Given the description of an element on the screen output the (x, y) to click on. 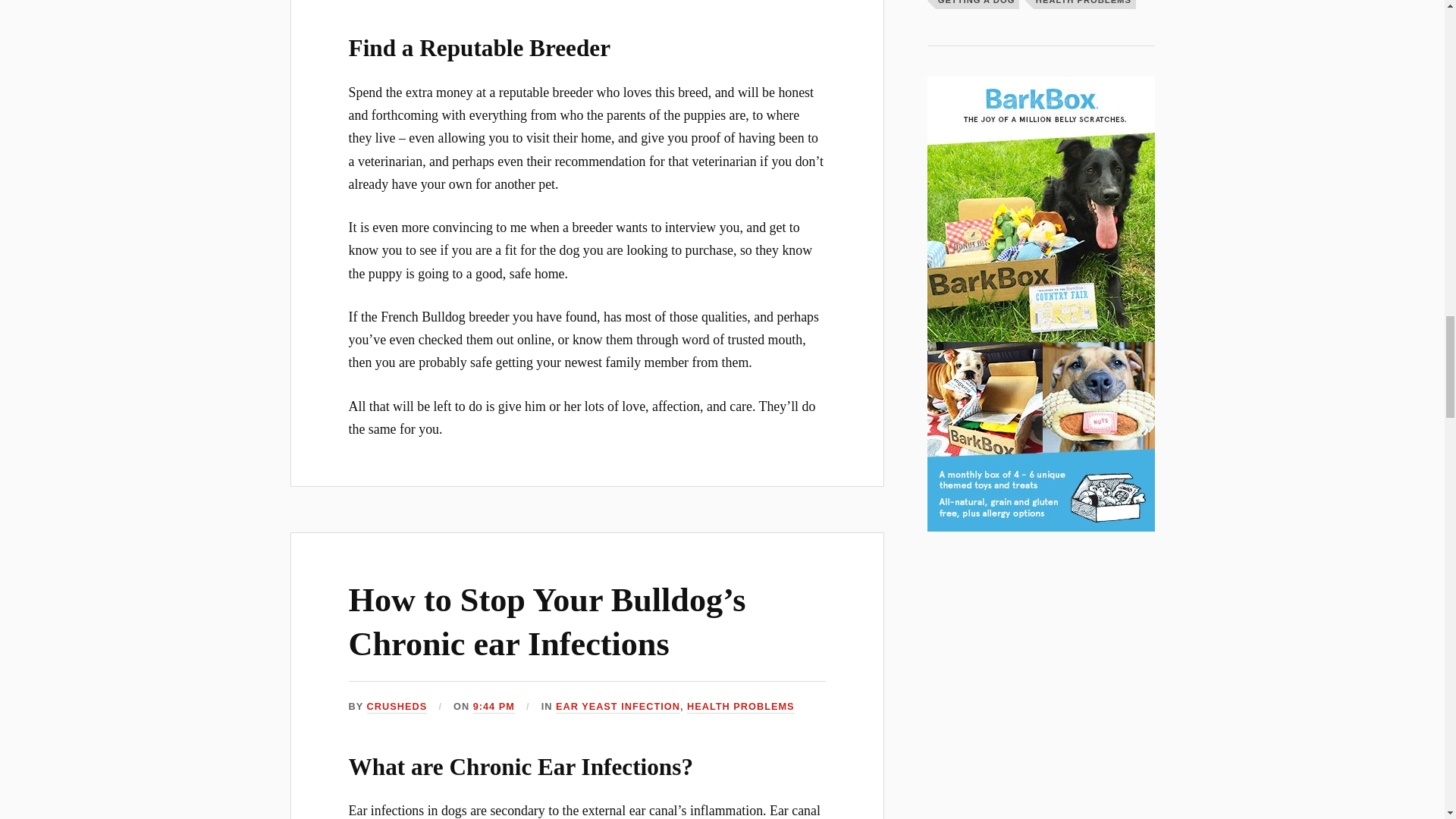
Posts by CrushEds (397, 707)
CRUSHEDS (397, 707)
9:44 PM (494, 707)
HEALTH PROBLEMS (740, 707)
EAR YEAST INFECTION (617, 707)
